Given the description of an element on the screen output the (x, y) to click on. 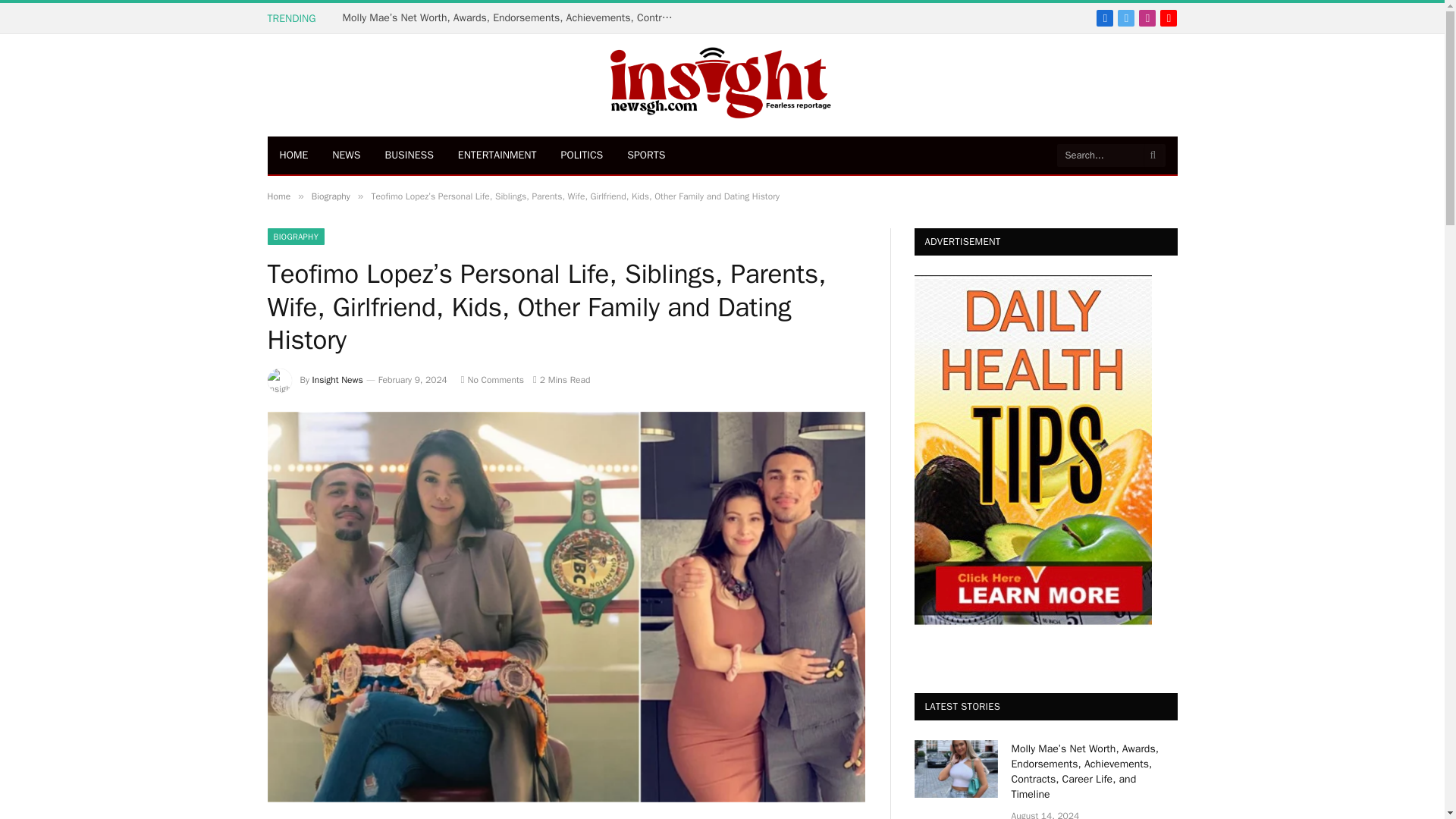
No Comments (492, 379)
YouTube (1168, 17)
ENTERTAINMENT (496, 155)
BUSINESS (408, 155)
SPORTS (645, 155)
POLITICS (581, 155)
Instagram (1147, 17)
Insight News (337, 379)
Facebook (1104, 17)
BIOGRAPHY (295, 236)
